Given the description of an element on the screen output the (x, y) to click on. 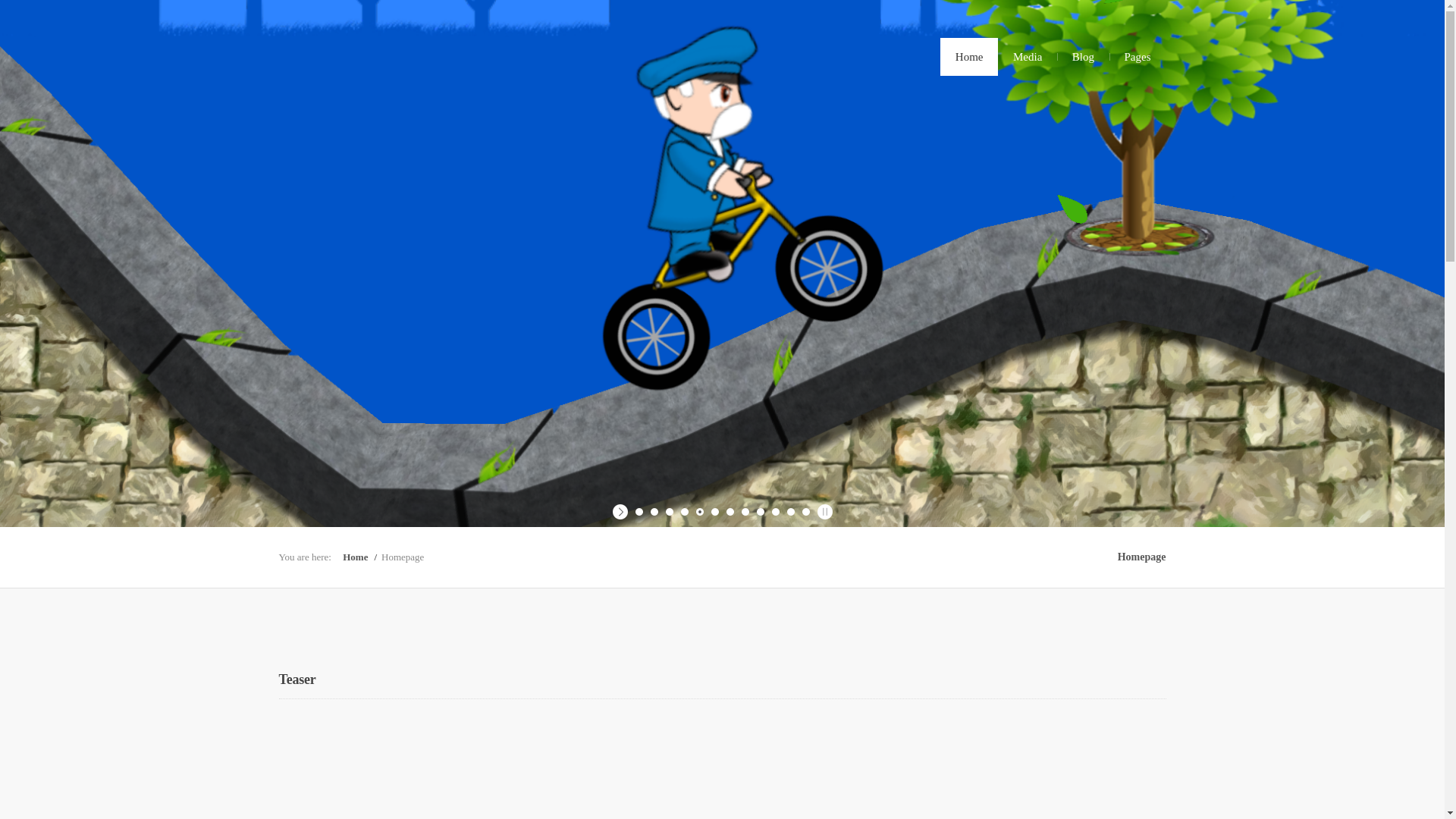
Pages (1137, 56)
Home (361, 556)
Search (13, 15)
Media (1027, 56)
Home (969, 56)
Blog (1083, 56)
